Given the description of an element on the screen output the (x, y) to click on. 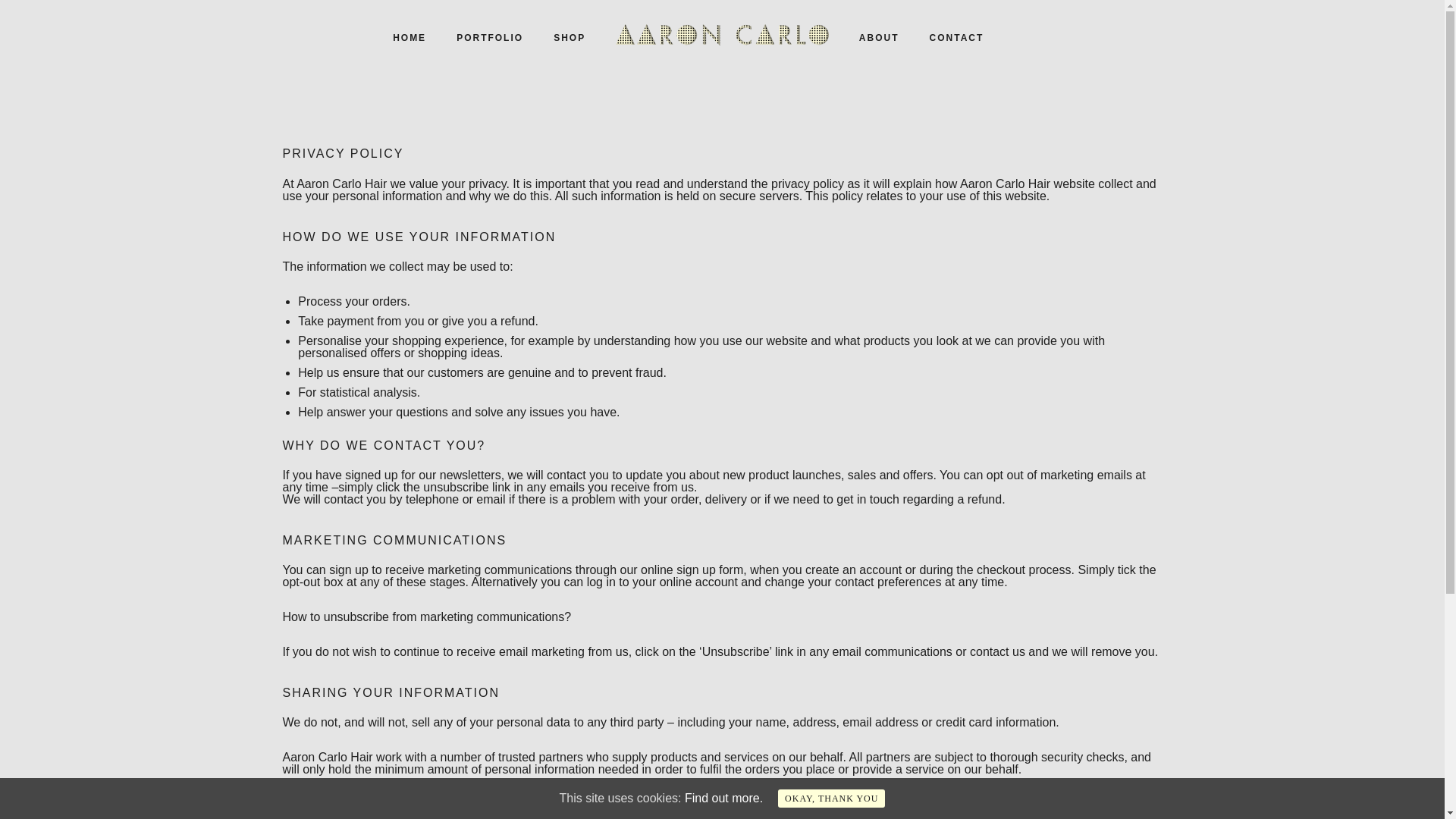
Find out more. (723, 797)
HOME (409, 37)
About (879, 37)
ABOUT (879, 37)
OKAY, THANK YOU (831, 798)
Shop (568, 37)
Portfolio (489, 37)
SHOP (568, 37)
PORTFOLIO (489, 37)
Contact (956, 37)
Home (409, 37)
CONTACT (956, 37)
